Given the description of an element on the screen output the (x, y) to click on. 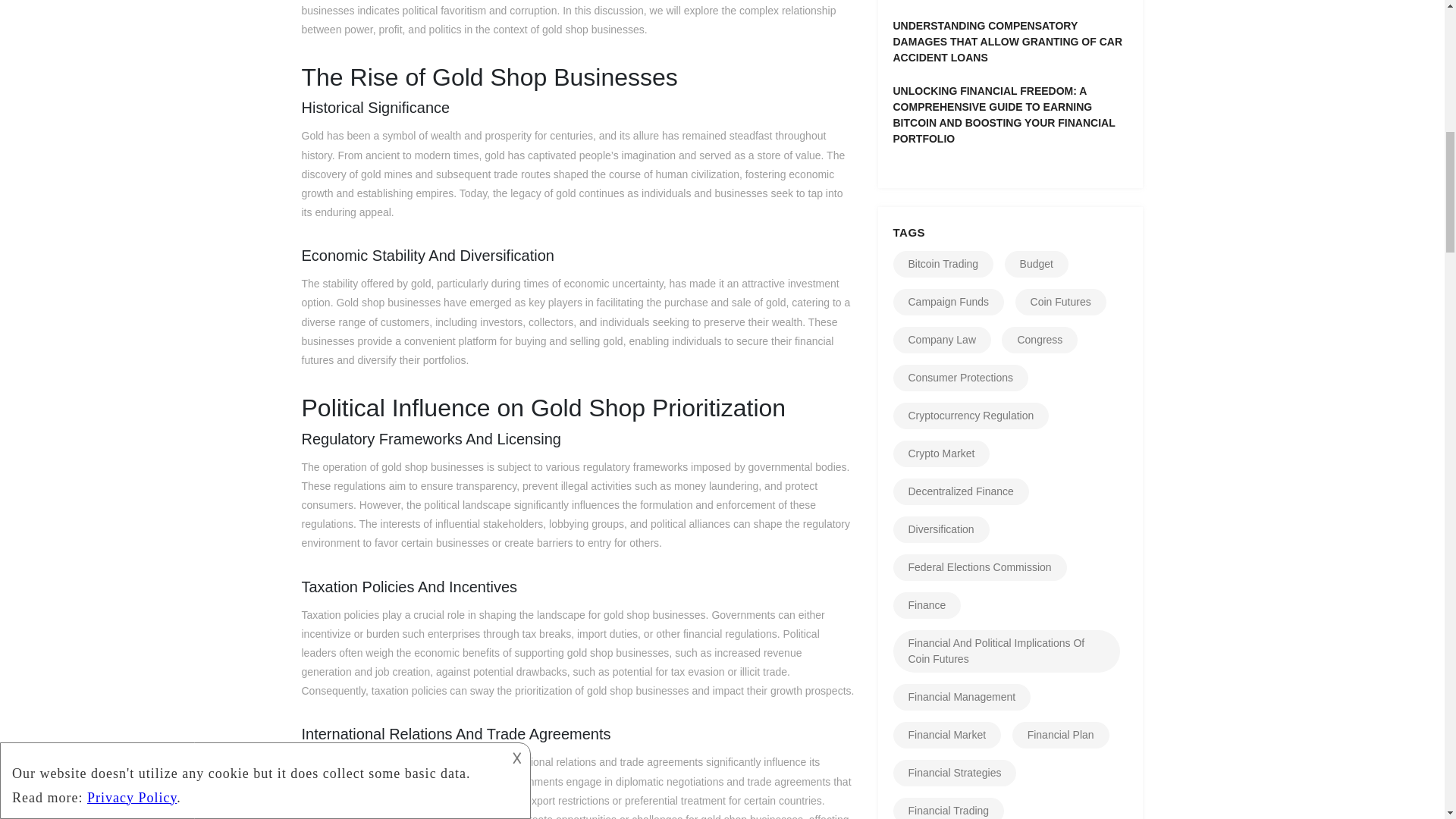
Consumer Protections (961, 377)
Cryptocurrency Regulation (971, 415)
Coin Futures (1060, 302)
Decentralized Finance (961, 491)
Company Law (942, 339)
Congress (1039, 339)
Campaign Funds (948, 302)
Bitcoin Trading (943, 263)
Budget (1036, 263)
Crypto Market (941, 453)
